Given the description of an element on the screen output the (x, y) to click on. 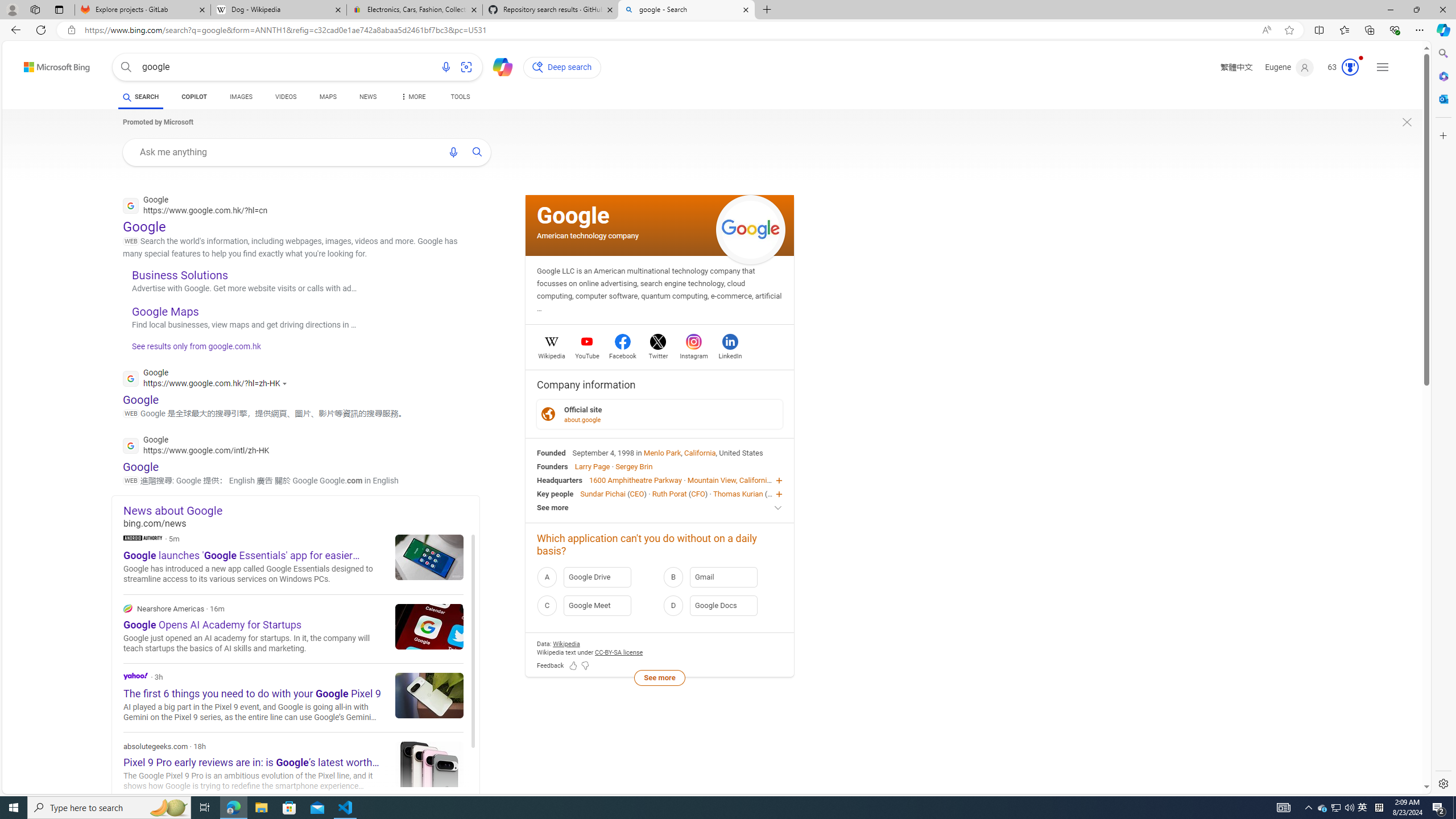
Google Maps (165, 311)
TOOLS (460, 96)
Wikipedia (551, 354)
MAPS (327, 98)
CC-BY-SA license (619, 652)
COPILOT (193, 96)
Nearshore Americas (127, 608)
absolutegeeks.com (293, 766)
